Given the description of an element on the screen output the (x, y) to click on. 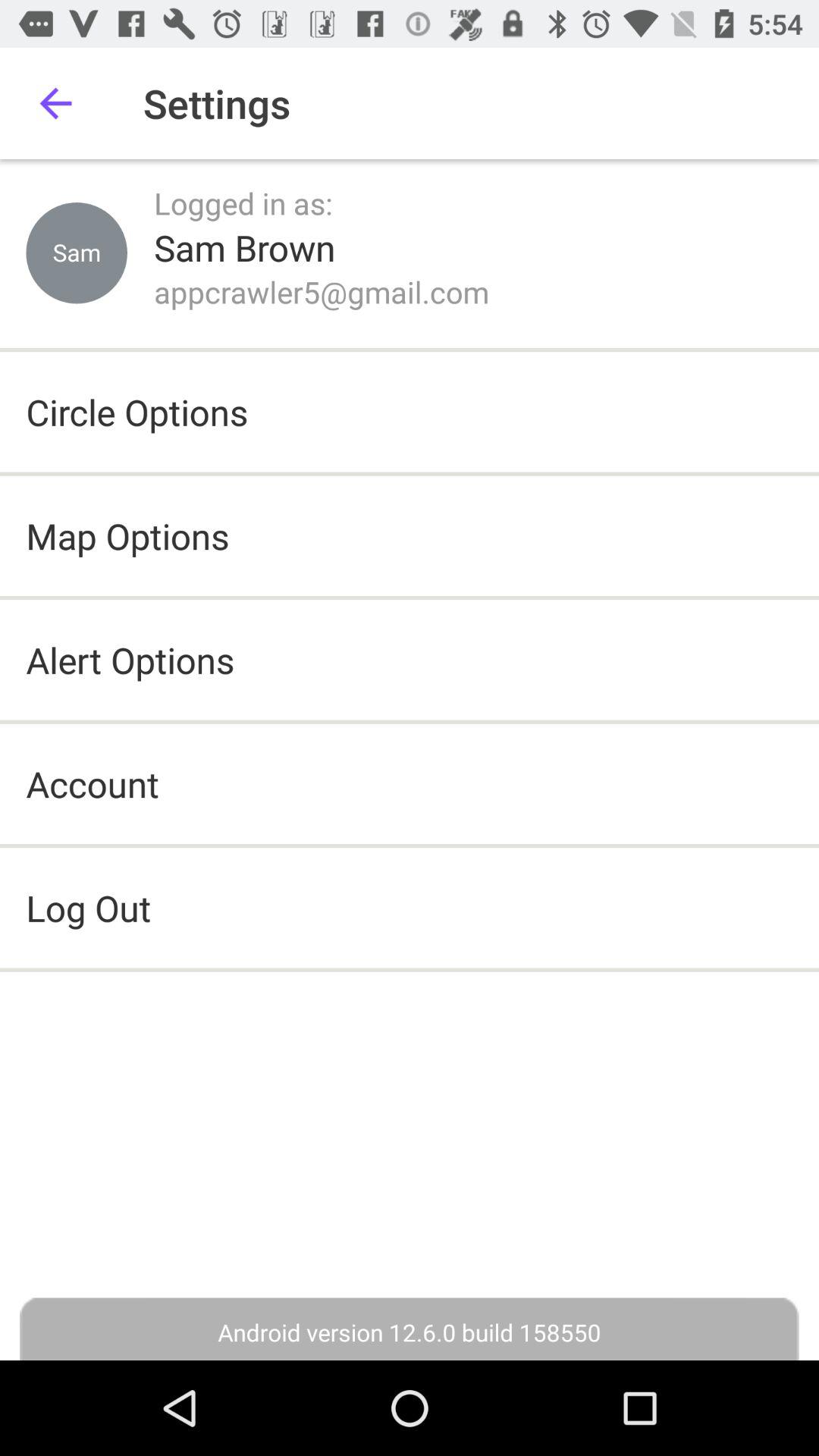
turn off the item below the circle options (127, 535)
